Given the description of an element on the screen output the (x, y) to click on. 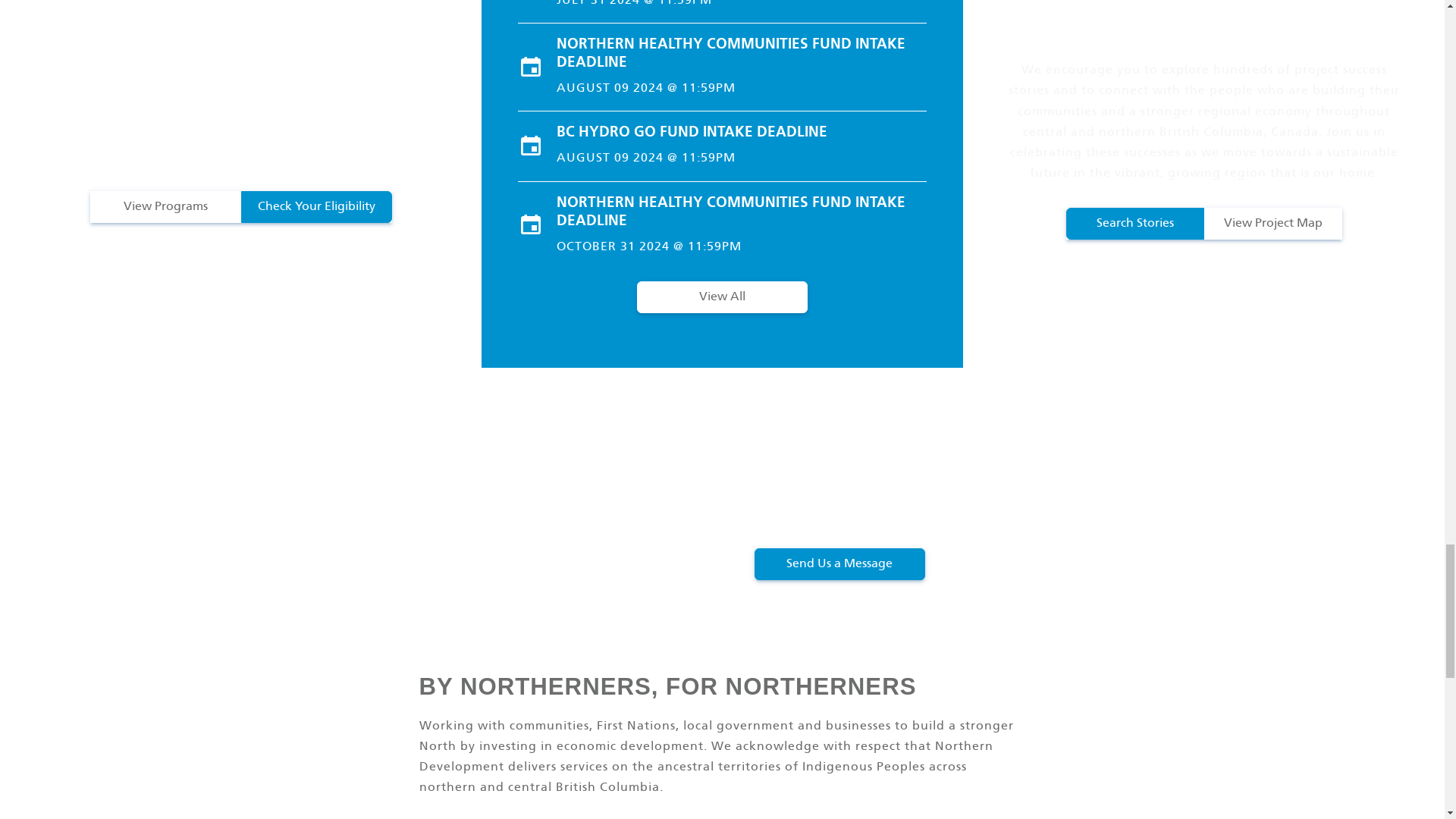
View All Events (722, 296)
View All (722, 296)
View Project Map (1273, 223)
Search Stories (1134, 223)
NORTHERN HEALTHY COMMUNITIES FUND INTAKE DEADLINE (741, 54)
Send Us a Message (839, 563)
Phone Number (1333, 512)
View Programs (164, 206)
BC HYDRO GO FUND INTAKE DEADLINE (741, 132)
Email (1177, 512)
Check Your Eligibility (316, 206)
NORTHERN HEALTHY COMMUNITIES FUND INTAKE DEADLINE (741, 212)
